Given the description of an element on the screen output the (x, y) to click on. 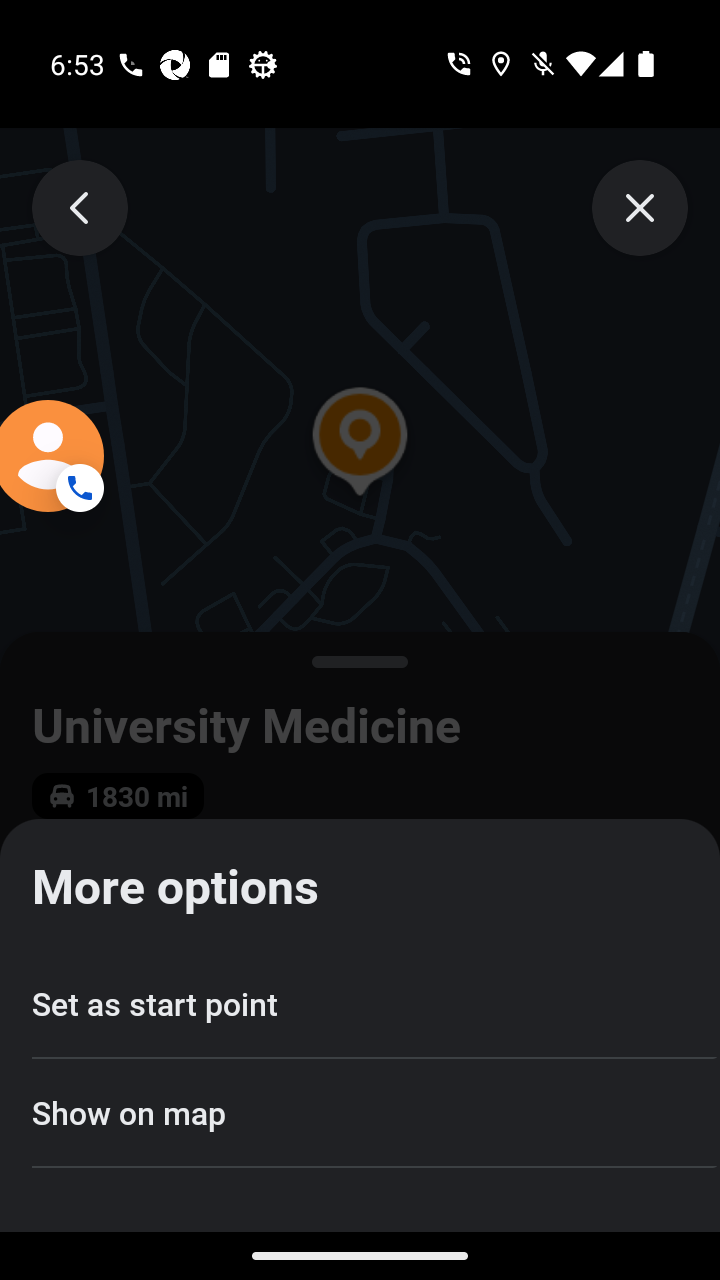
Set as start point ACTION_CELL_TEXT (360, 1003)
Show on map ACTION_CELL_TEXT (360, 1112)
